Given the description of an element on the screen output the (x, y) to click on. 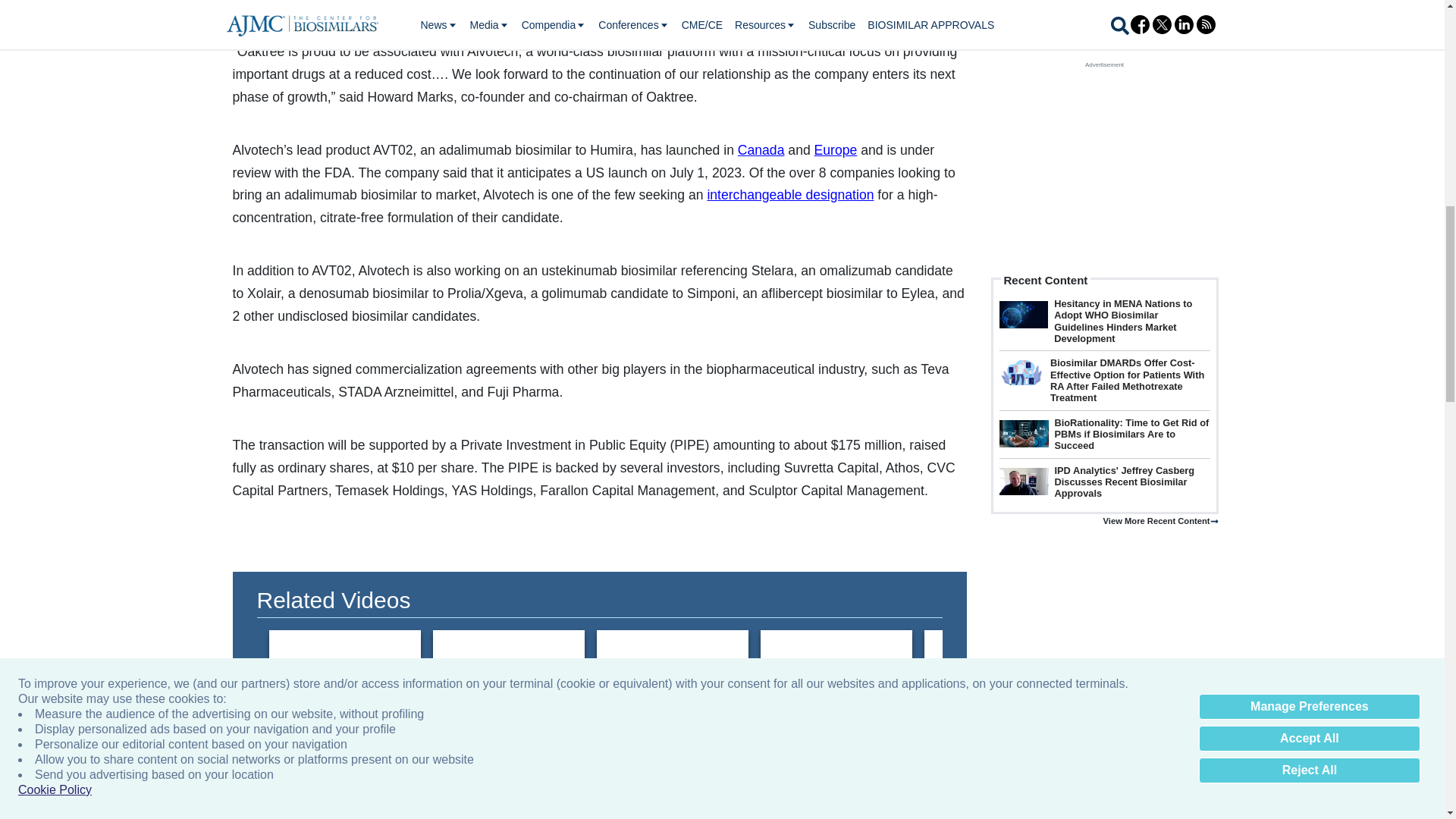
GBW 2023 webinar (343, 672)
Michael Kleinrock (1163, 672)
Ian Henshaw (1326, 672)
Christine Baeder (835, 672)
